Given the description of an element on the screen output the (x, y) to click on. 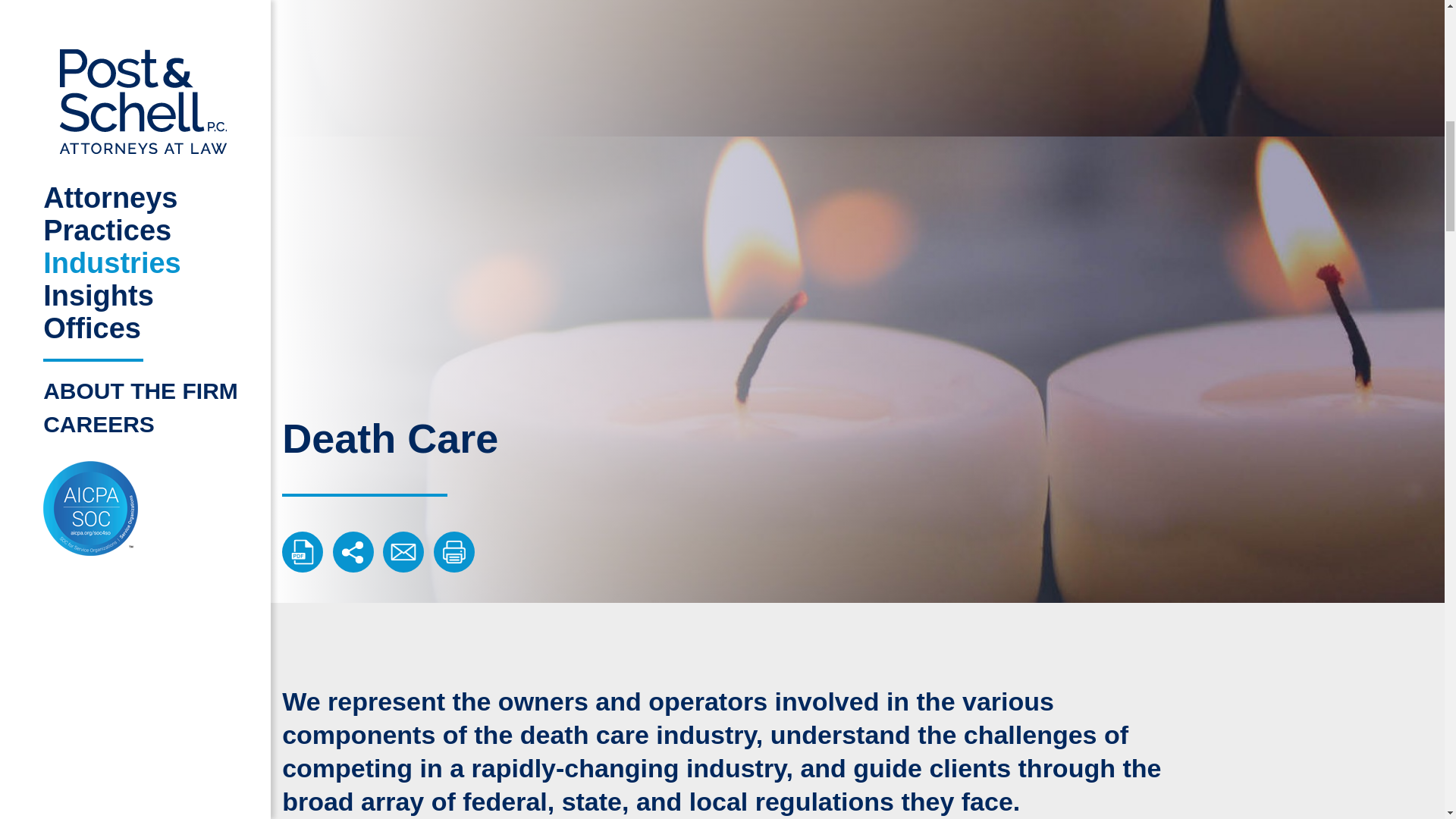
Email Page (402, 551)
Print Page (453, 551)
Share Page (353, 551)
Download PDF (302, 551)
